Given the description of an element on the screen output the (x, y) to click on. 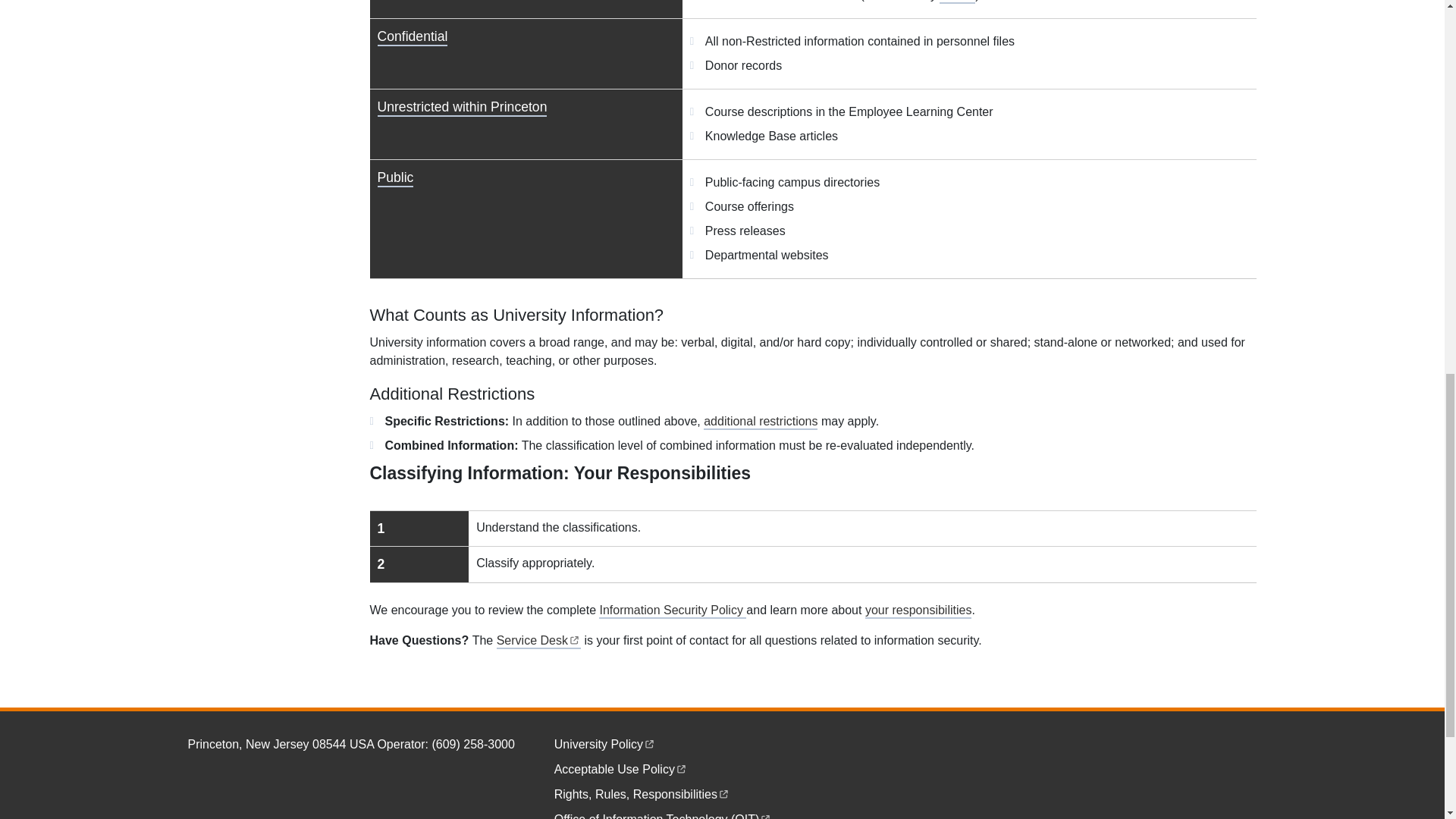
Link is external (574, 638)
Link is external (765, 816)
Link is external (723, 792)
Link is external (813, 546)
Link is external (649, 742)
